Given the description of an element on the screen output the (x, y) to click on. 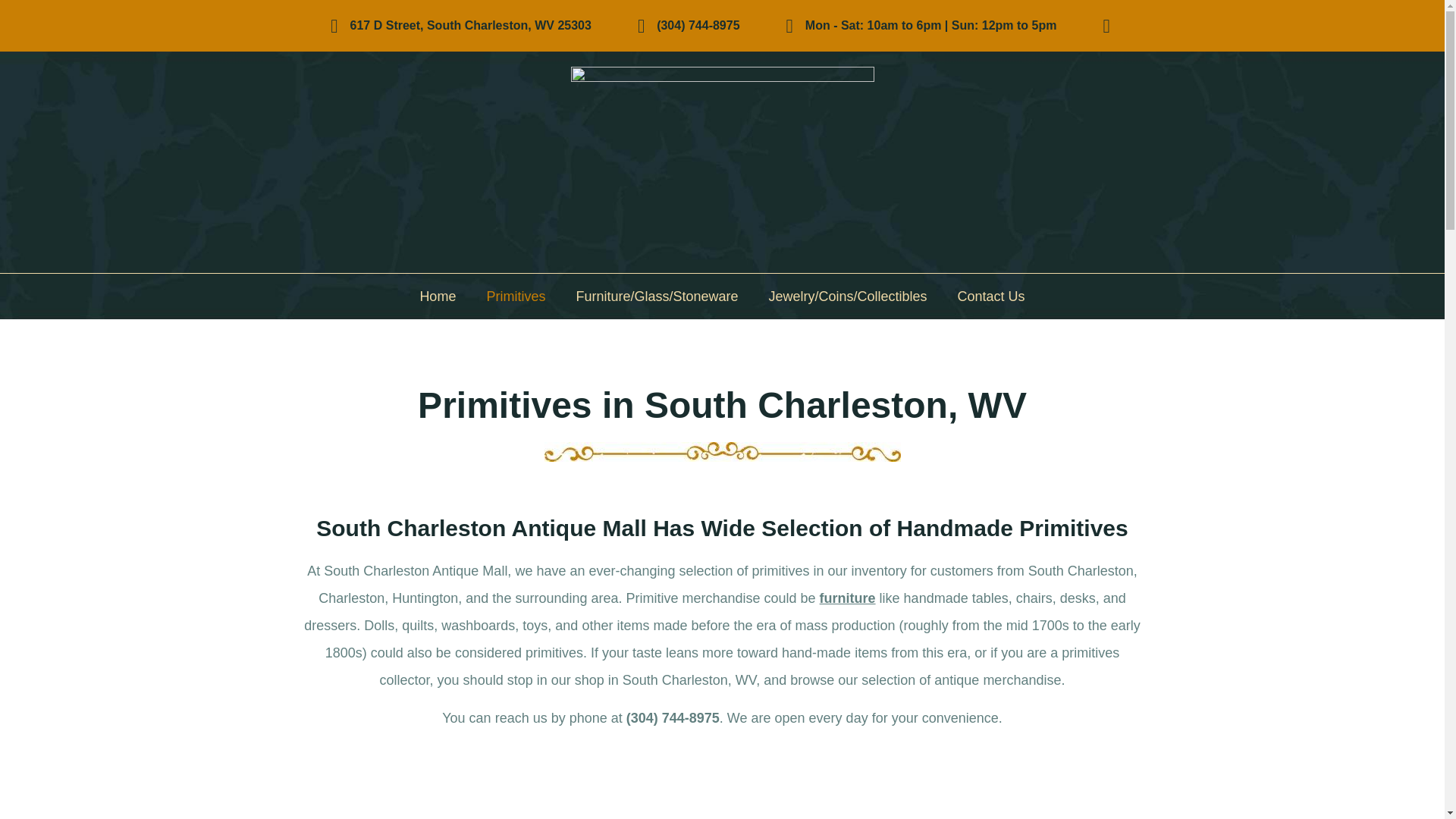
Home (437, 296)
Contact Us (991, 296)
Primitives (515, 296)
furniture (847, 598)
